Given the description of an element on the screen output the (x, y) to click on. 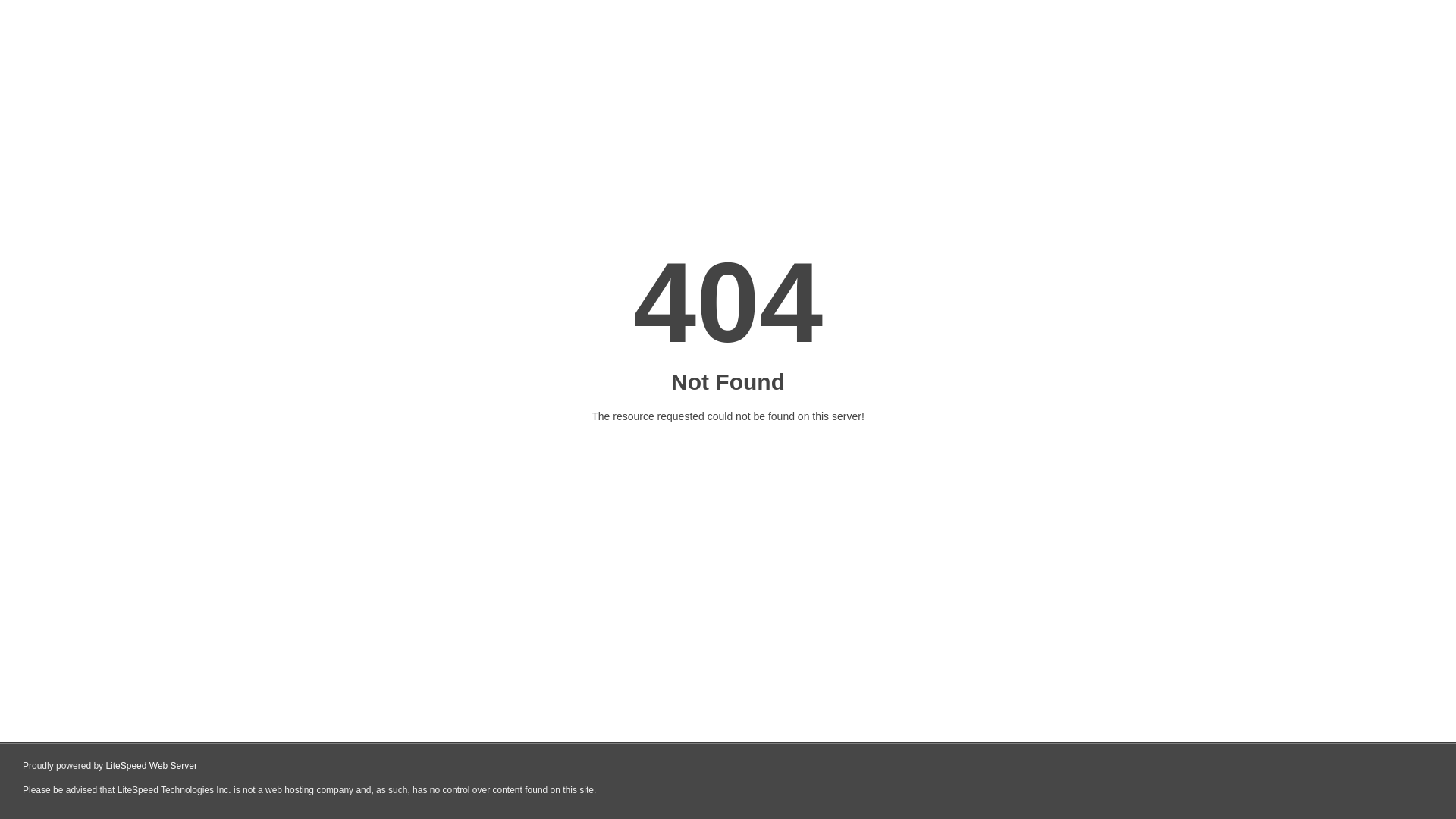
LiteSpeed Web Server Element type: text (151, 765)
